Given the description of an element on the screen output the (x, y) to click on. 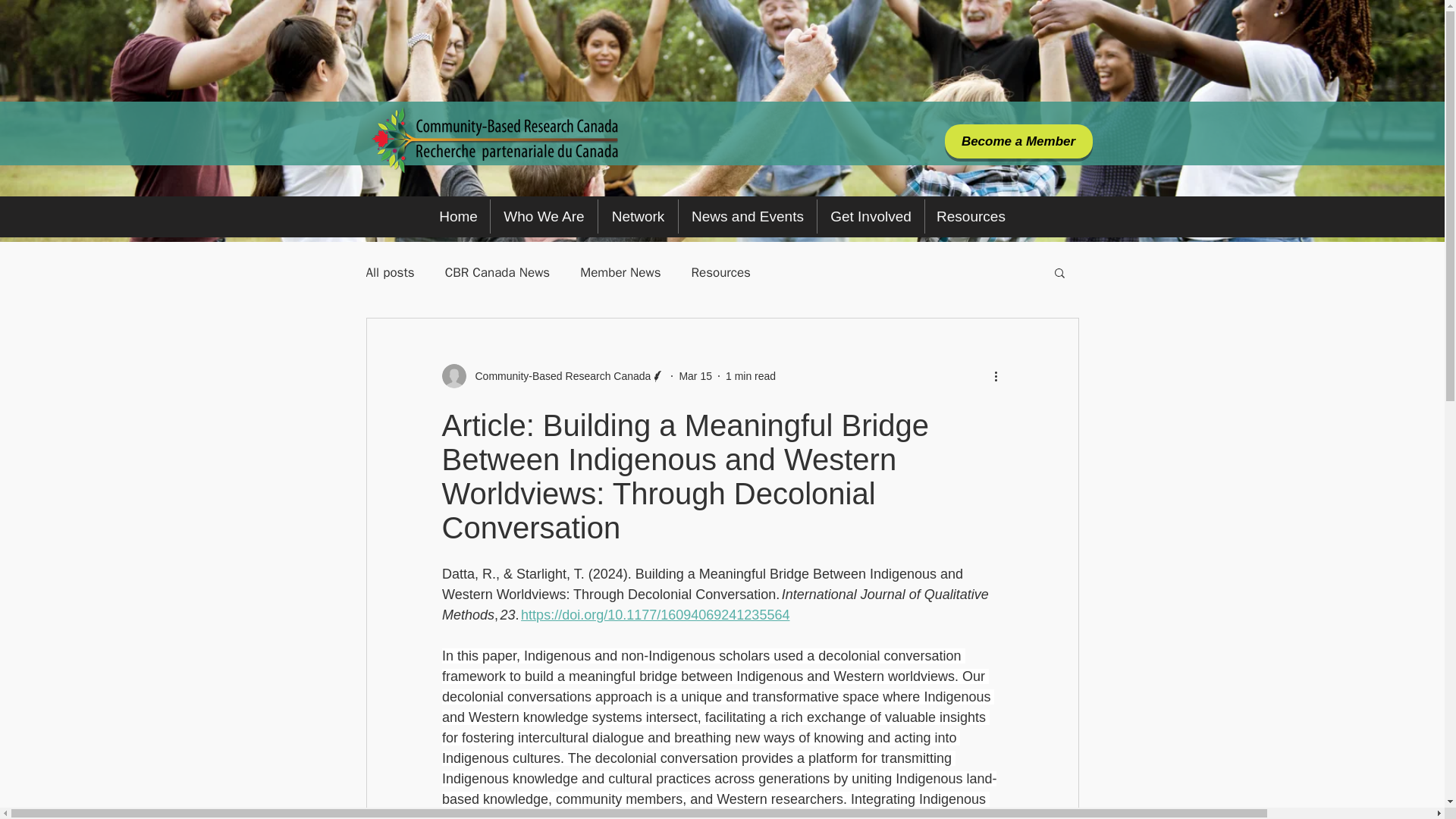
1 min read (750, 376)
Get Involved (870, 216)
News and Events (747, 216)
Network (638, 216)
Member News (620, 272)
Who We Are (543, 216)
Mar 15 (694, 376)
All posts (389, 272)
Home (457, 216)
CBR Canada News (497, 272)
Community-Based Research Canada (557, 376)
Resources (721, 272)
Become a Member (1018, 141)
Resources (970, 216)
Community-Based Research Canada (553, 375)
